Given the description of an element on the screen output the (x, y) to click on. 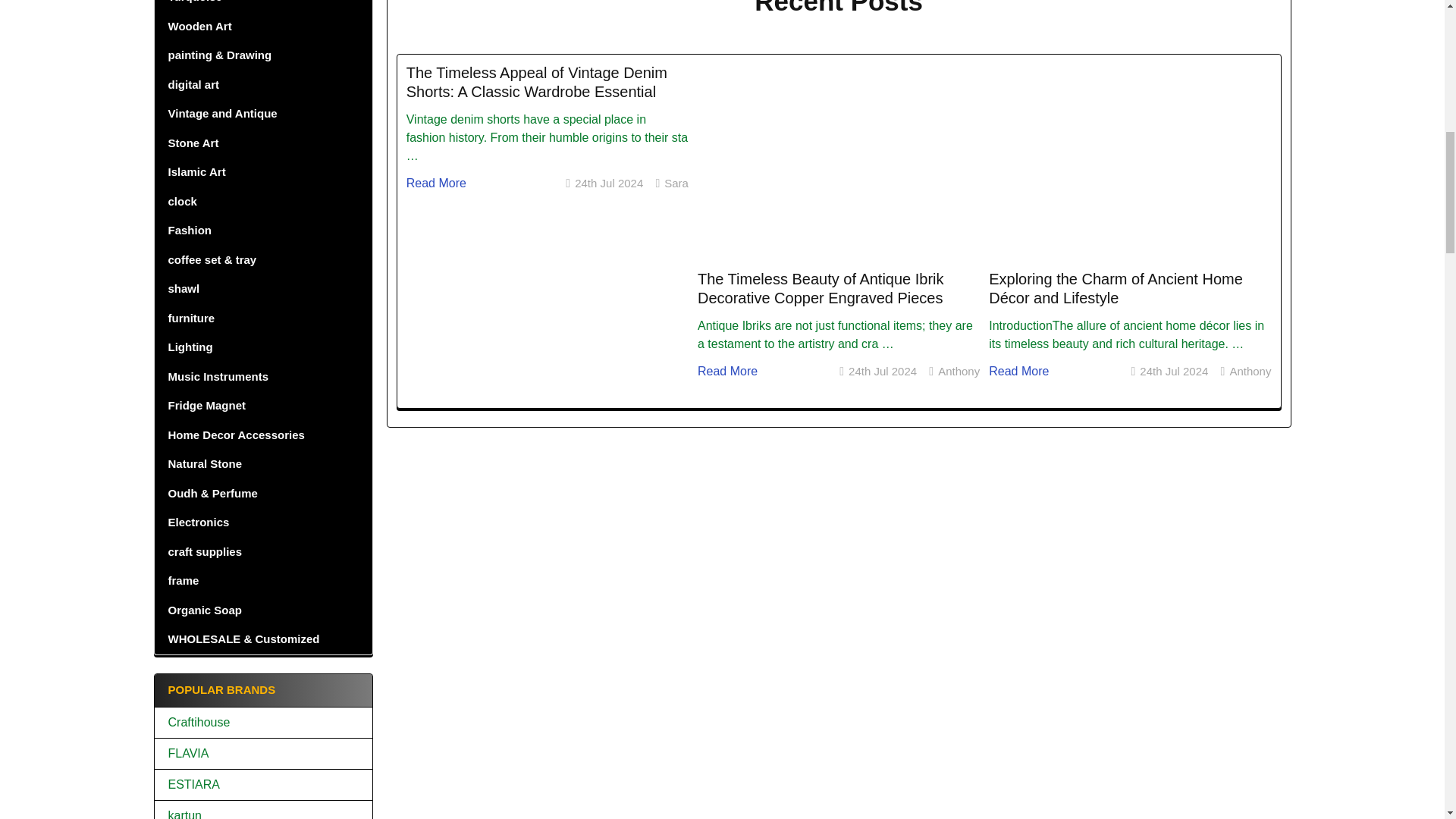
Craftihouse (263, 722)
ESTIARA (263, 784)
FLAVIA (263, 753)
kartun (263, 812)
